Given the description of an element on the screen output the (x, y) to click on. 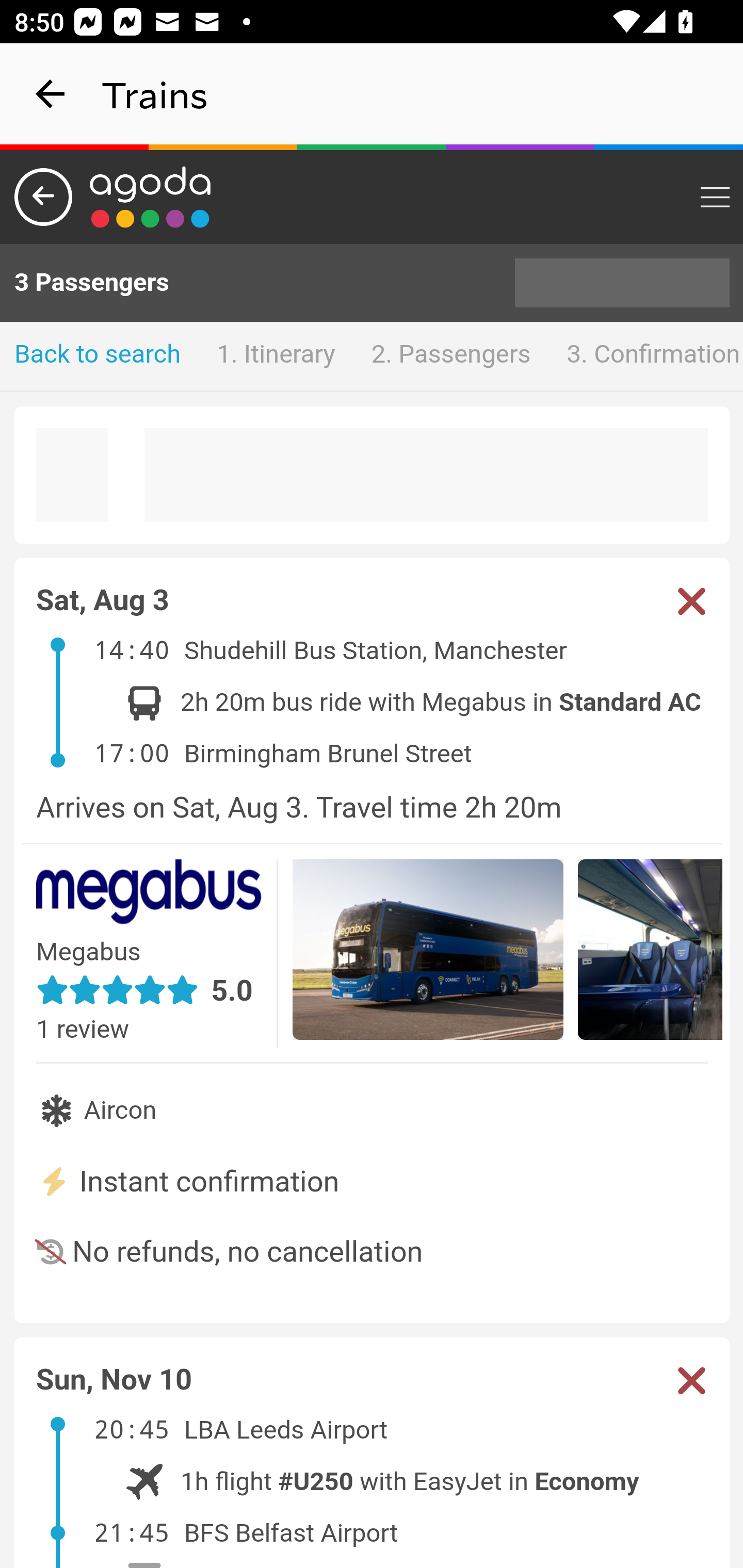
navigation_button (50, 93)
Link to main page 5418 (150, 197)
Back to search (98, 355)
Megabus Megabus    5.0 1 review (156, 952)
29-outside (427, 952)
29-inside (650, 952)
